Given the description of an element on the screen output the (x, y) to click on. 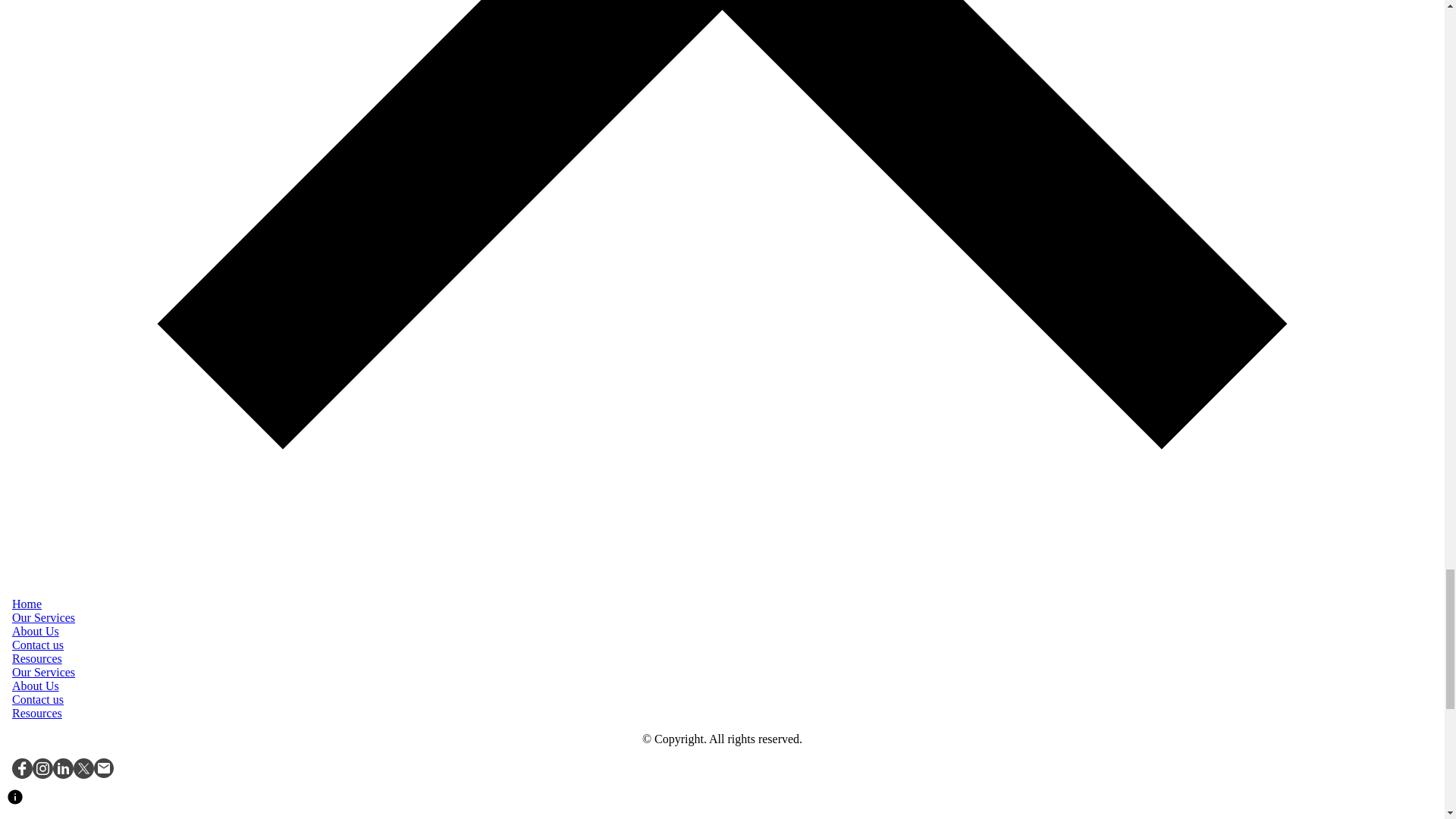
Contact us (37, 698)
About Us (35, 685)
Our Services (43, 617)
Our Services (43, 671)
Resources (36, 658)
Contact us (37, 644)
Home (26, 603)
About Us (35, 631)
Resources (36, 712)
